Given the description of an element on the screen output the (x, y) to click on. 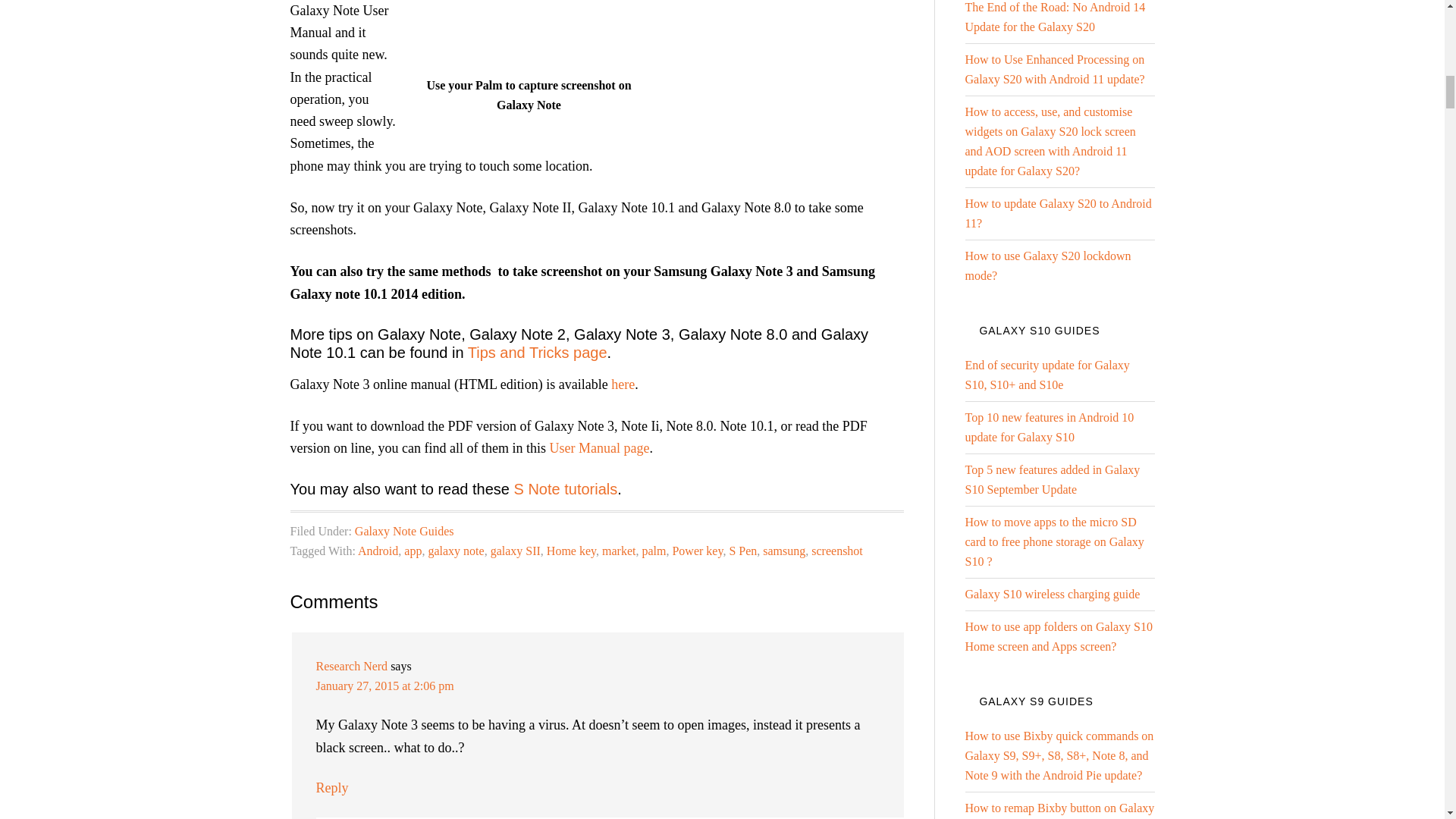
S Note tutorials (565, 488)
